Given the description of an element on the screen output the (x, y) to click on. 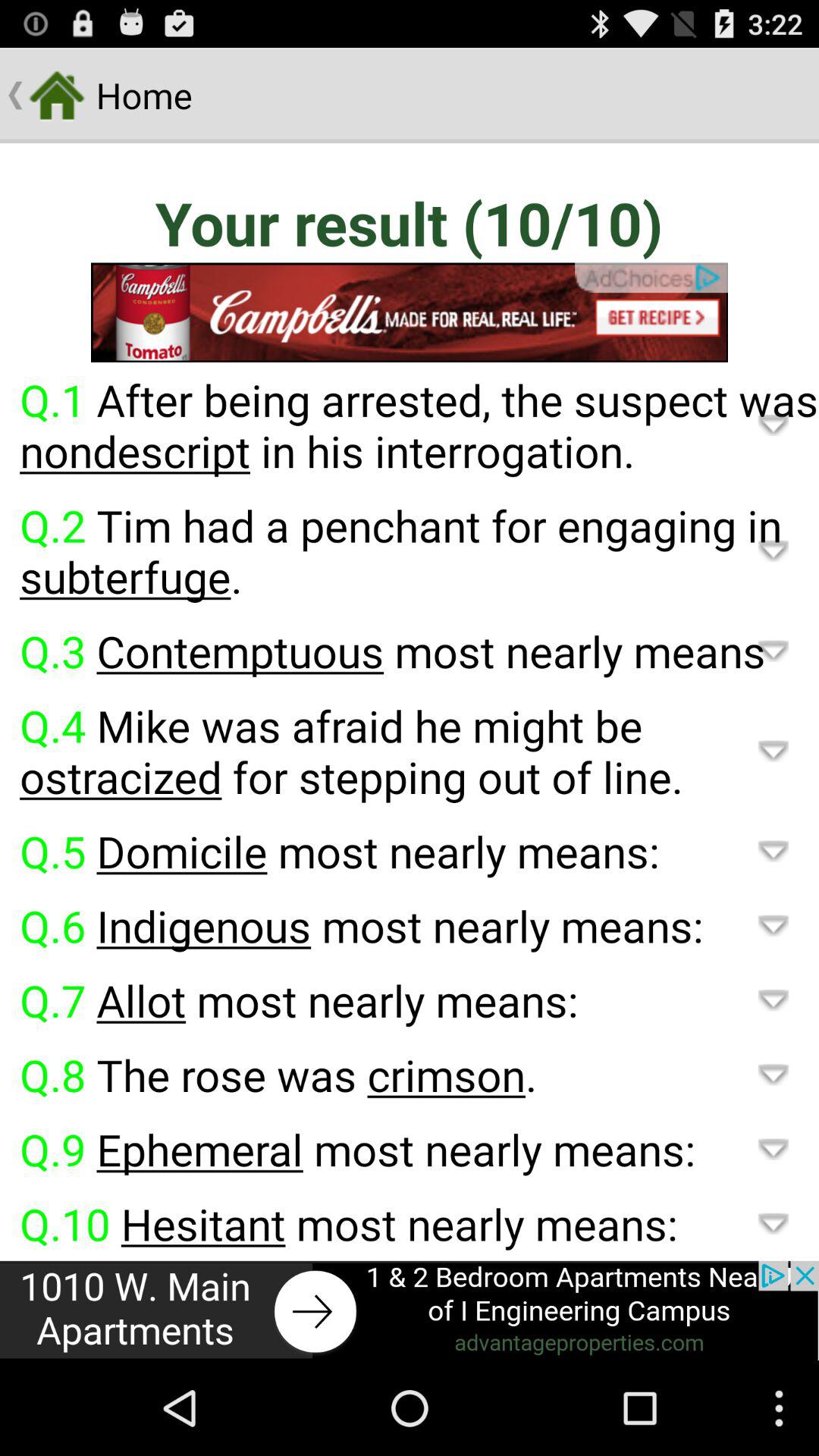
view advertisement (409, 312)
